Given the description of an element on the screen output the (x, y) to click on. 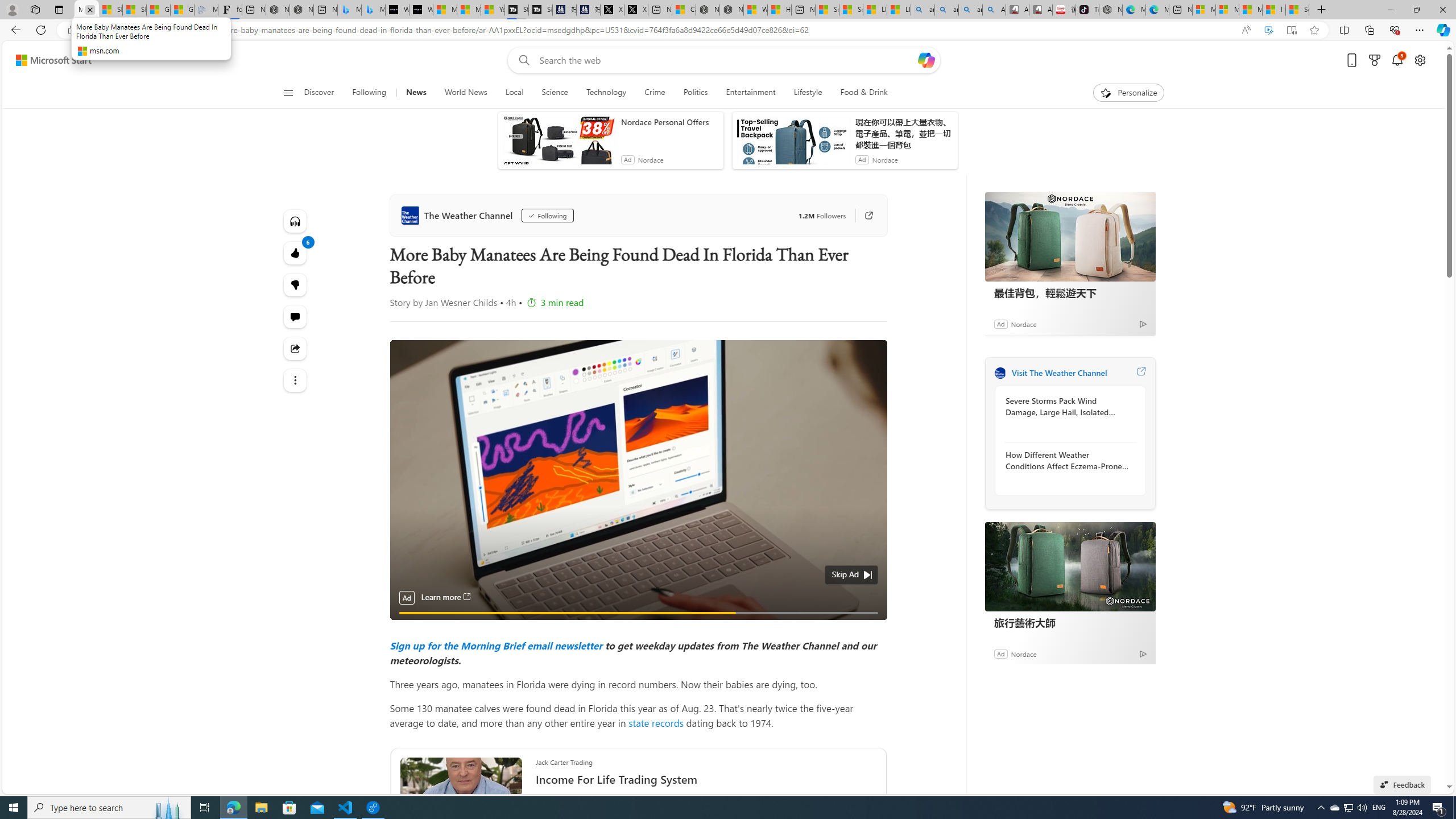
Jack Carter Trading Income For Life Trading System (705, 776)
Crime (654, 92)
Science (554, 92)
Skip Ad (845, 573)
Entertainment (750, 92)
Skip to footer (46, 59)
Microsoft rewards (1374, 60)
Technology (605, 92)
Ad Choice (1142, 653)
Start the conversation (295, 316)
Open Copilot (925, 59)
World News (465, 92)
Close (1442, 9)
